Given the description of an element on the screen output the (x, y) to click on. 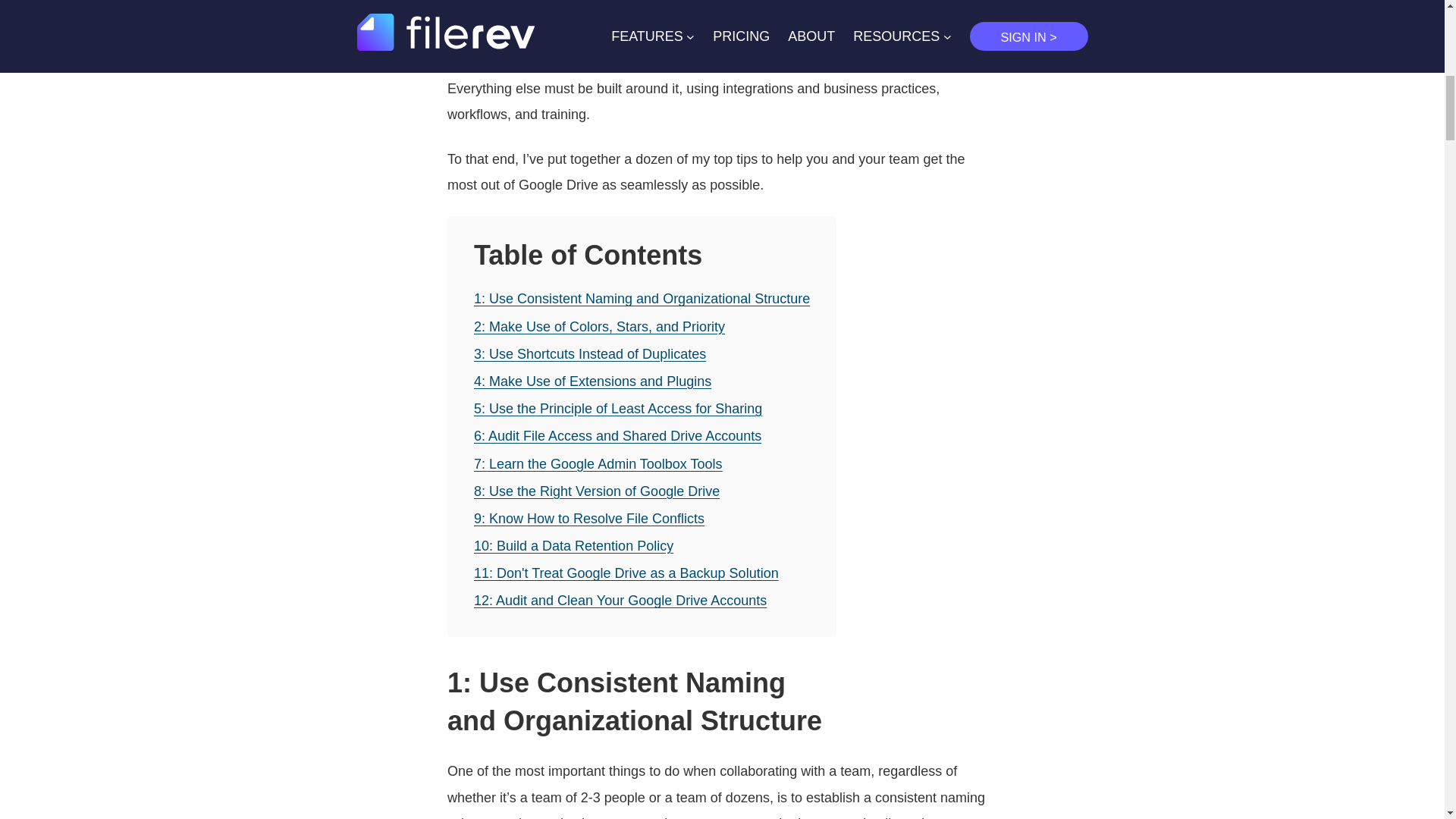
2: Make Use of Colors, Stars, and Priority (599, 326)
11: Don't Treat Google Drive as a Backup Solution (626, 572)
5: Use the Principle of Least Access for Sharing (617, 408)
8: Use the Right Version of Google Drive (596, 491)
10: Build a Data Retention Policy (573, 545)
6: Audit File Access and Shared Drive Accounts (617, 435)
1: Use Consistent Naming and Organizational Structure (641, 298)
3: Use Shortcuts Instead of Duplicates (590, 353)
4: Make Use of Extensions and Plugins (592, 381)
9: Know How to Resolve File Conflicts (589, 518)
